Given the description of an element on the screen output the (x, y) to click on. 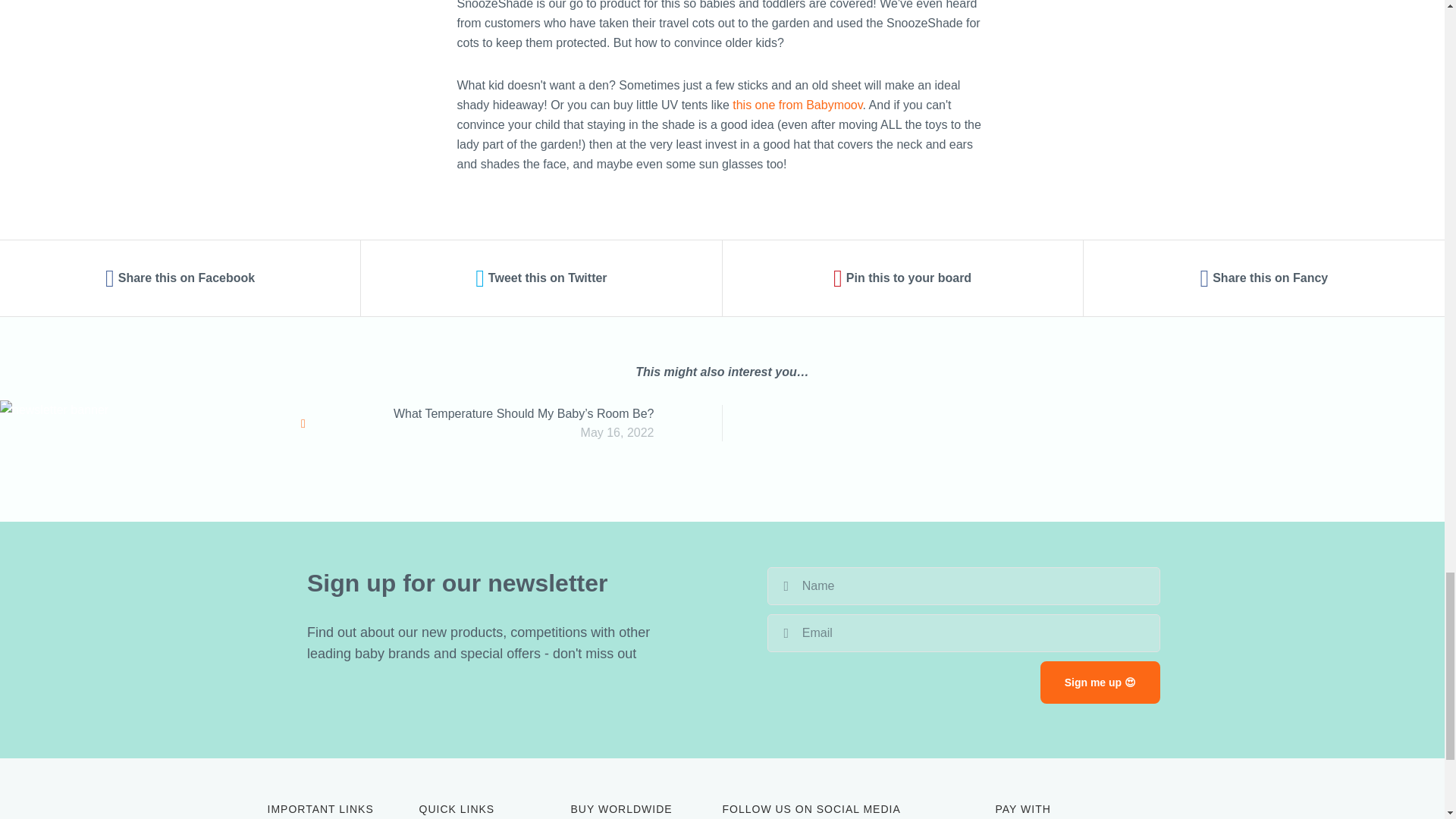
Pin this to your board (902, 277)
this one from Babymoov (796, 104)
Tweet this on Twitter (541, 277)
Share this on Facebook (180, 277)
